Given the description of an element on the screen output the (x, y) to click on. 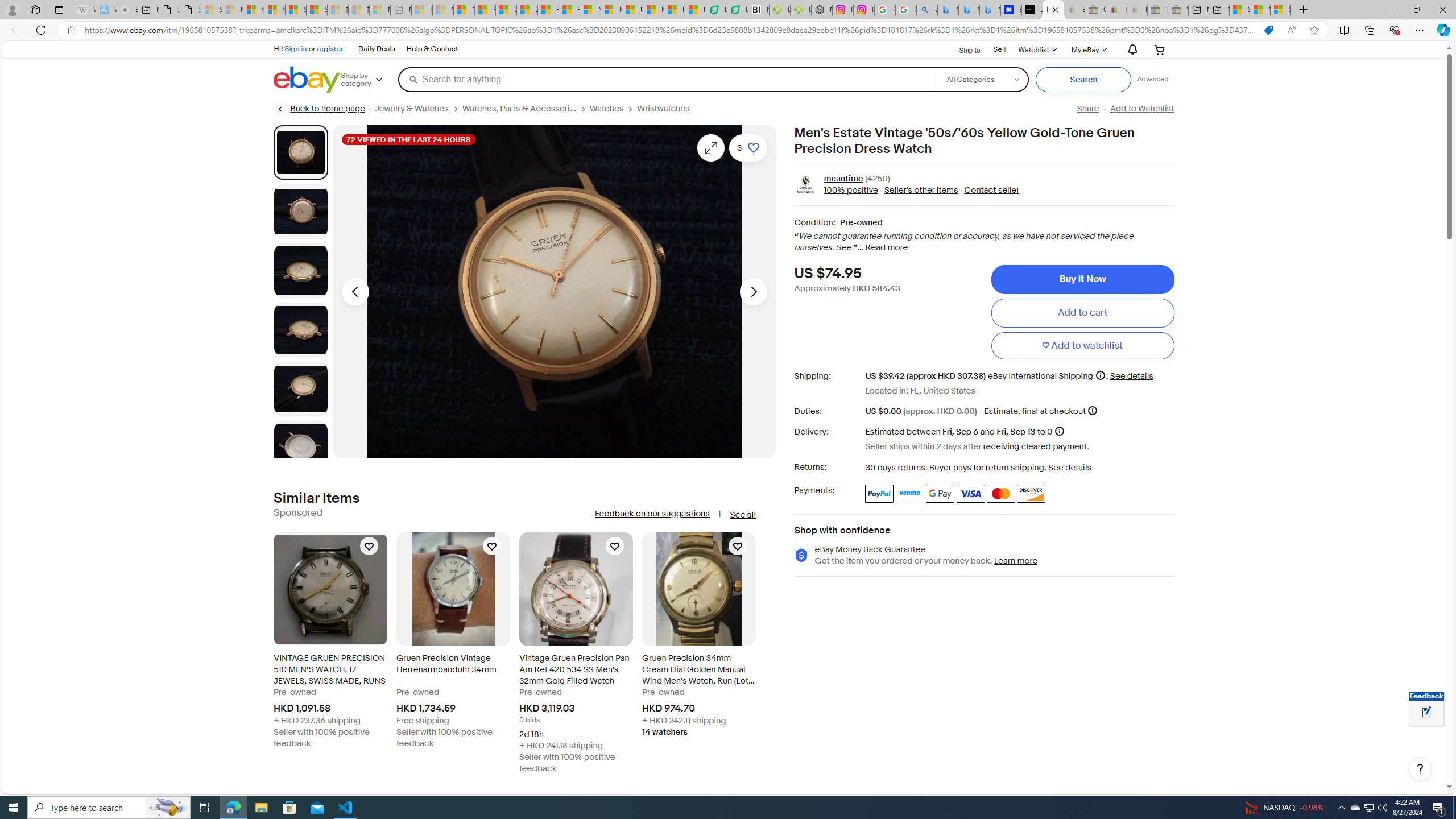
Shop by category (368, 79)
Watches, Parts & Accessories (518, 108)
Jewelry & Watches (411, 108)
PayPal (878, 493)
Seller's other items (920, 190)
Sign in to your Microsoft account (1280, 9)
Buy iPad - Apple - Sleeping (127, 9)
Sign in (295, 48)
